Given the description of an element on the screen output the (x, y) to click on. 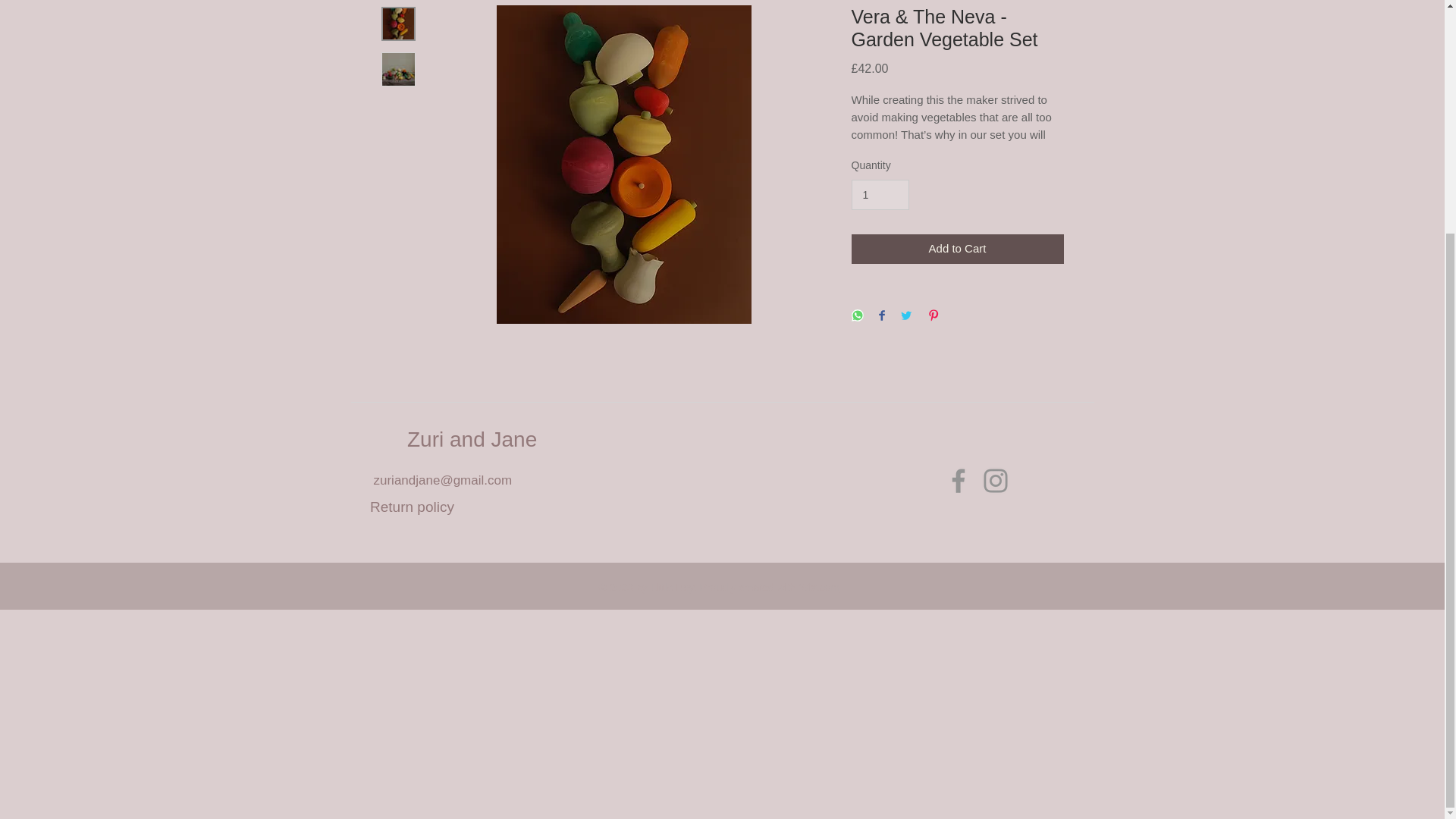
Wix.com (819, 587)
Add to Cart (956, 248)
Return policy (411, 507)
1 (879, 194)
